Given the description of an element on the screen output the (x, y) to click on. 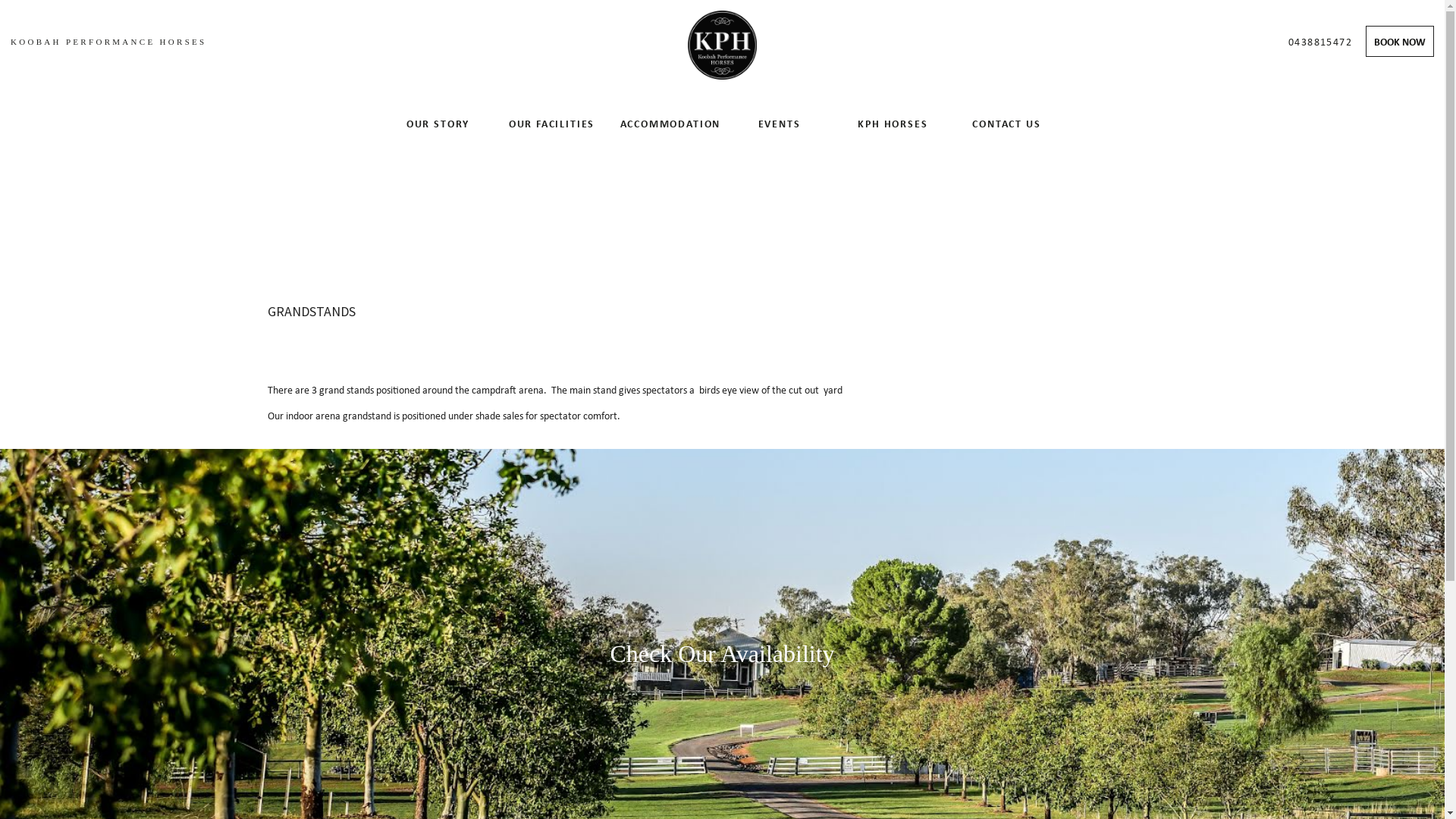
KPH HORSES Element type: text (892, 123)
BOOK NOW Element type: text (1399, 41)
OUR STORY Element type: text (437, 123)
0438815472 Element type: text (1320, 41)
ACCOMMODATION Element type: text (664, 123)
OUR FACILITIES Element type: text (551, 123)
EVENTS Element type: text (778, 123)
CONTACT US Element type: text (1006, 123)
